Given the description of an element on the screen output the (x, y) to click on. 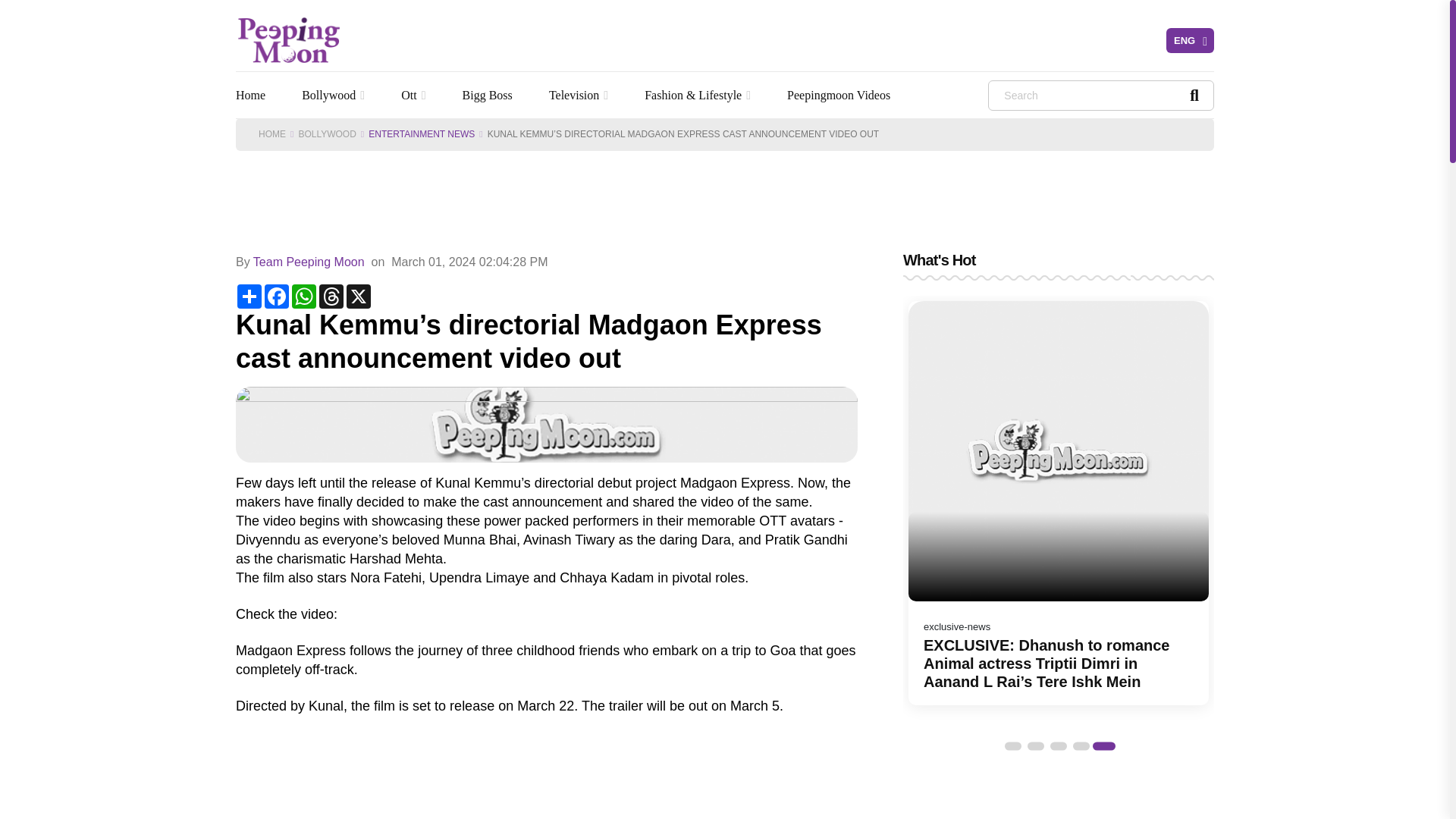
Peepingmoon Videos (842, 94)
Bollywood (336, 94)
Television (581, 94)
Bigg Boss (491, 94)
Peepingmoon English (288, 39)
